Given the description of an element on the screen output the (x, y) to click on. 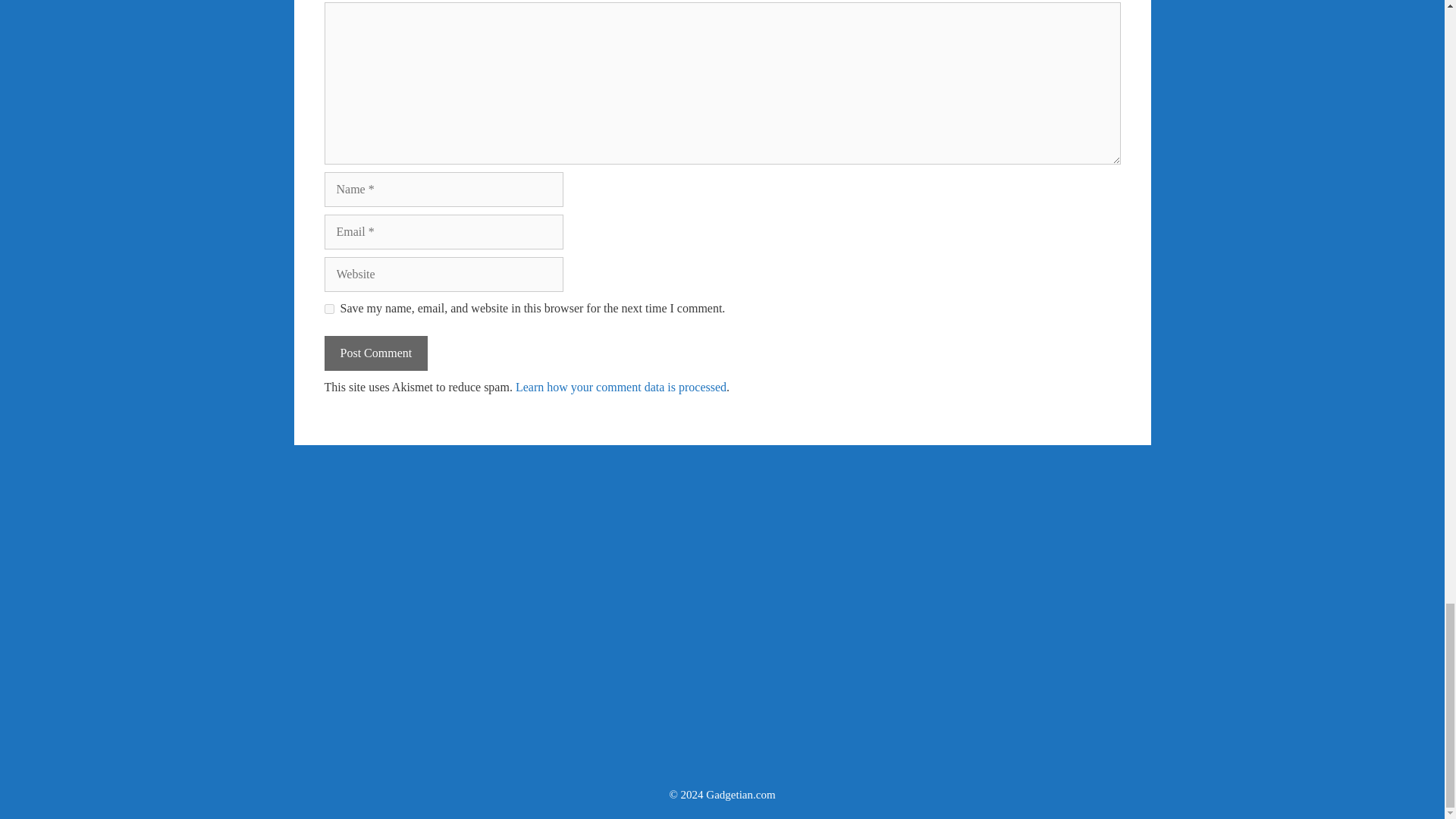
yes (329, 308)
Advertisement (722, 494)
Learn how your comment data is processed (620, 386)
Post Comment (376, 353)
Post Comment (376, 353)
